Given the description of an element on the screen output the (x, y) to click on. 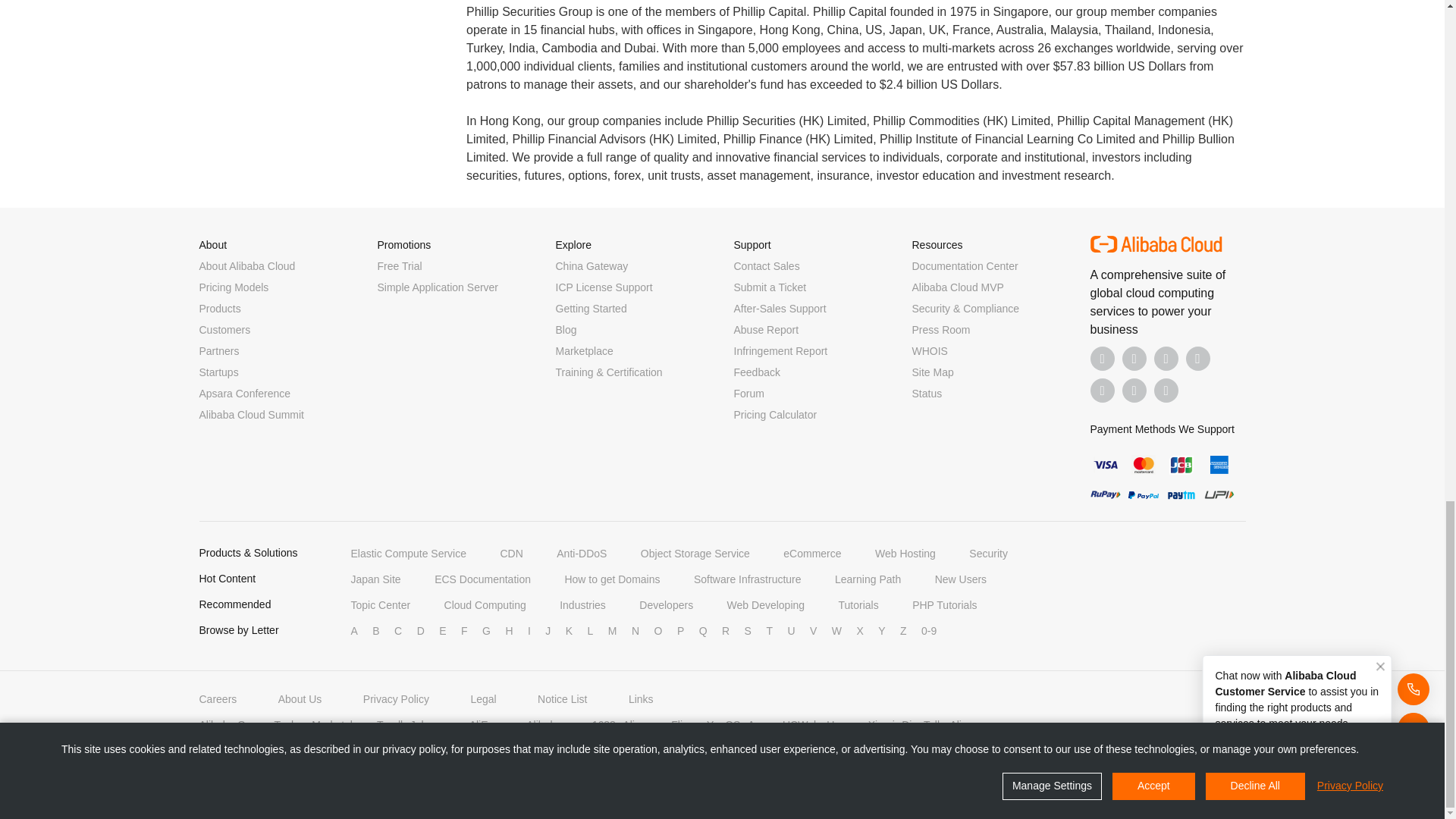
Facebook (1102, 358)
YouTube (1197, 358)
Call Us Now (1165, 390)
Linkedin (1134, 358)
Twitter (1165, 358)
TikTok (1102, 390)
